Given the description of an element on the screen output the (x, y) to click on. 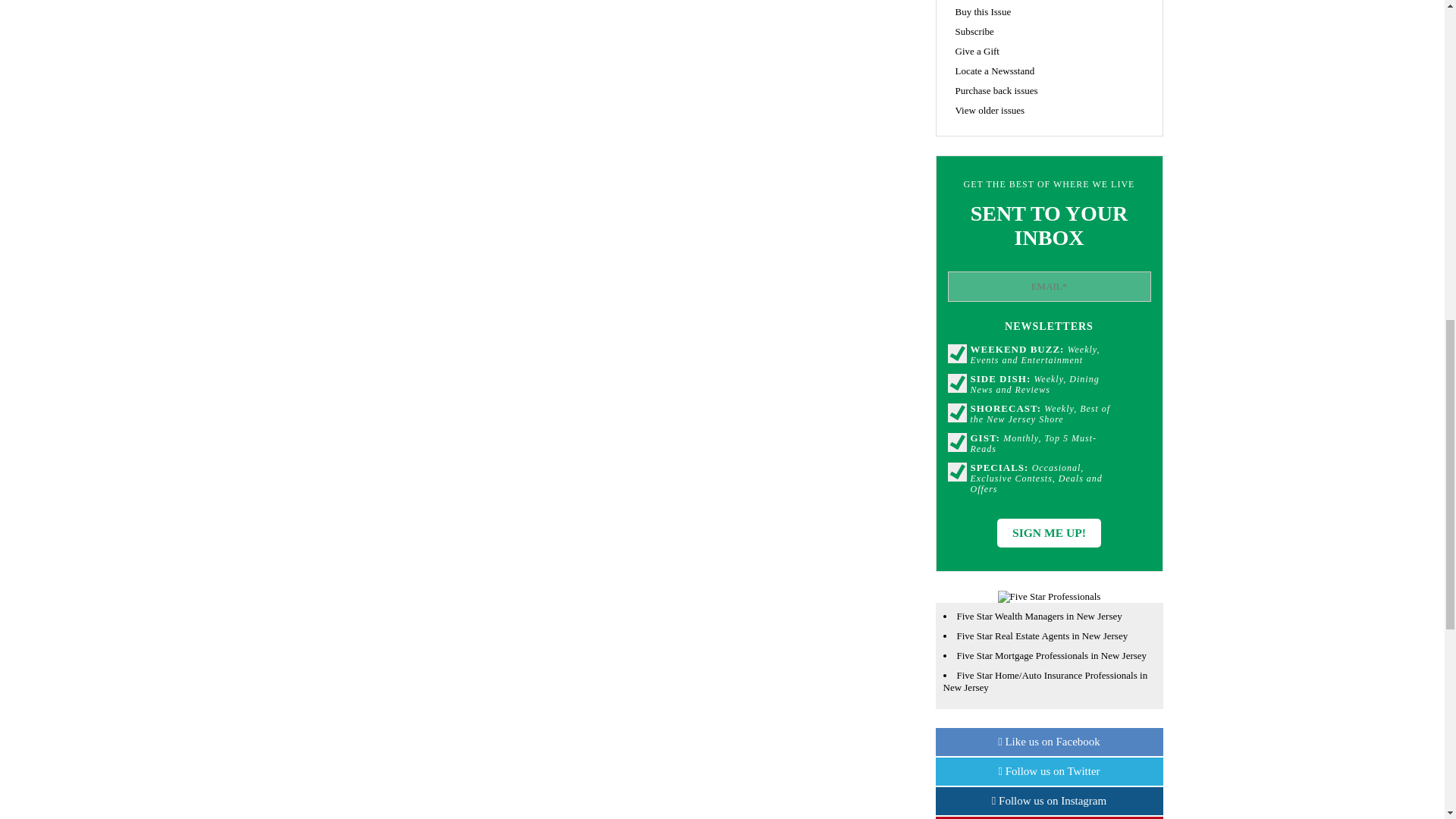
Subscribe (974, 30)
Buy this Issue (983, 11)
Sign Me Up! (1048, 532)
Locate a Newsstand (995, 70)
Give a Gift (976, 50)
